Given the description of an element on the screen output the (x, y) to click on. 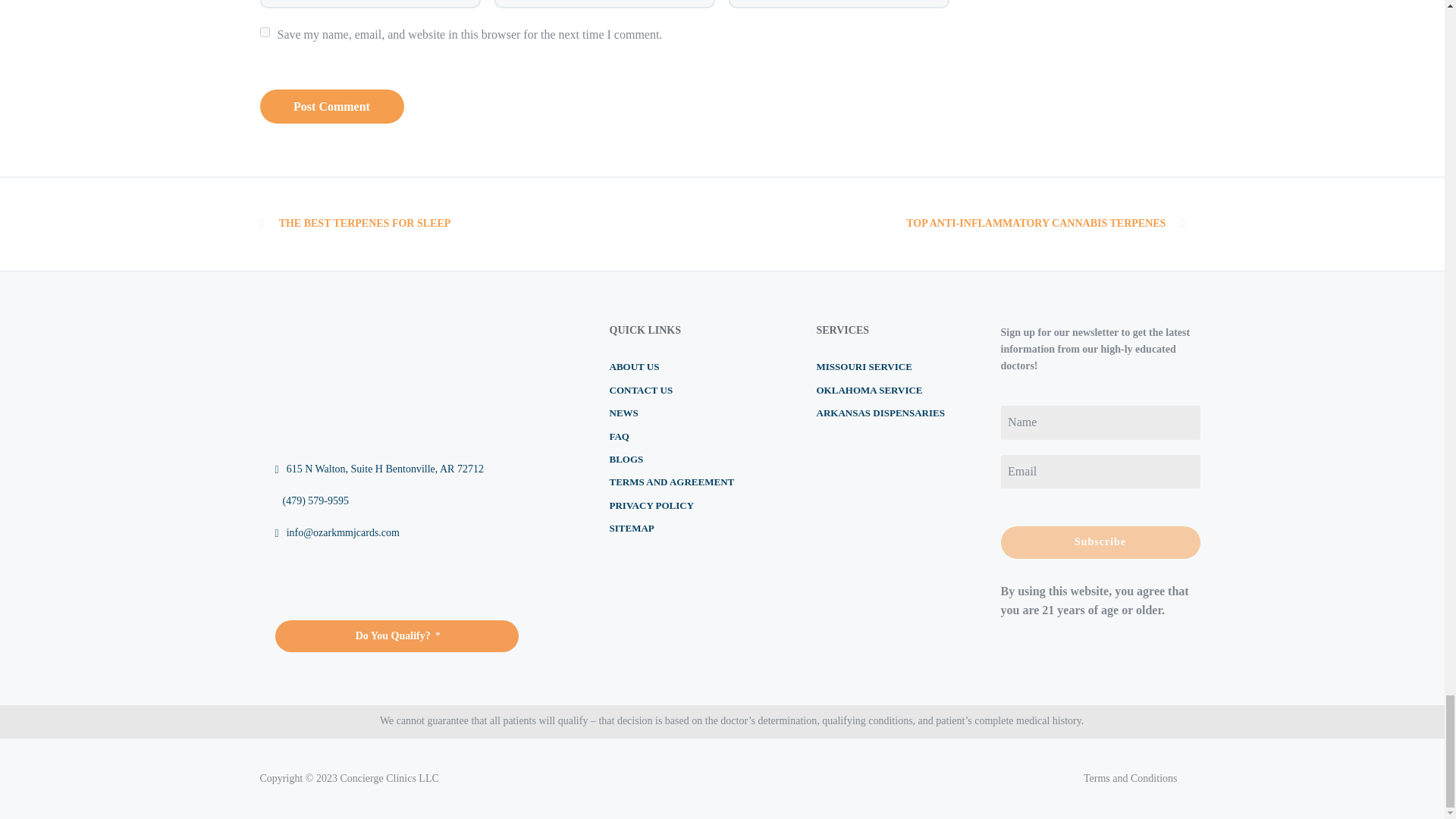
Post Comment (331, 106)
yes (264, 31)
